Given the description of an element on the screen output the (x, y) to click on. 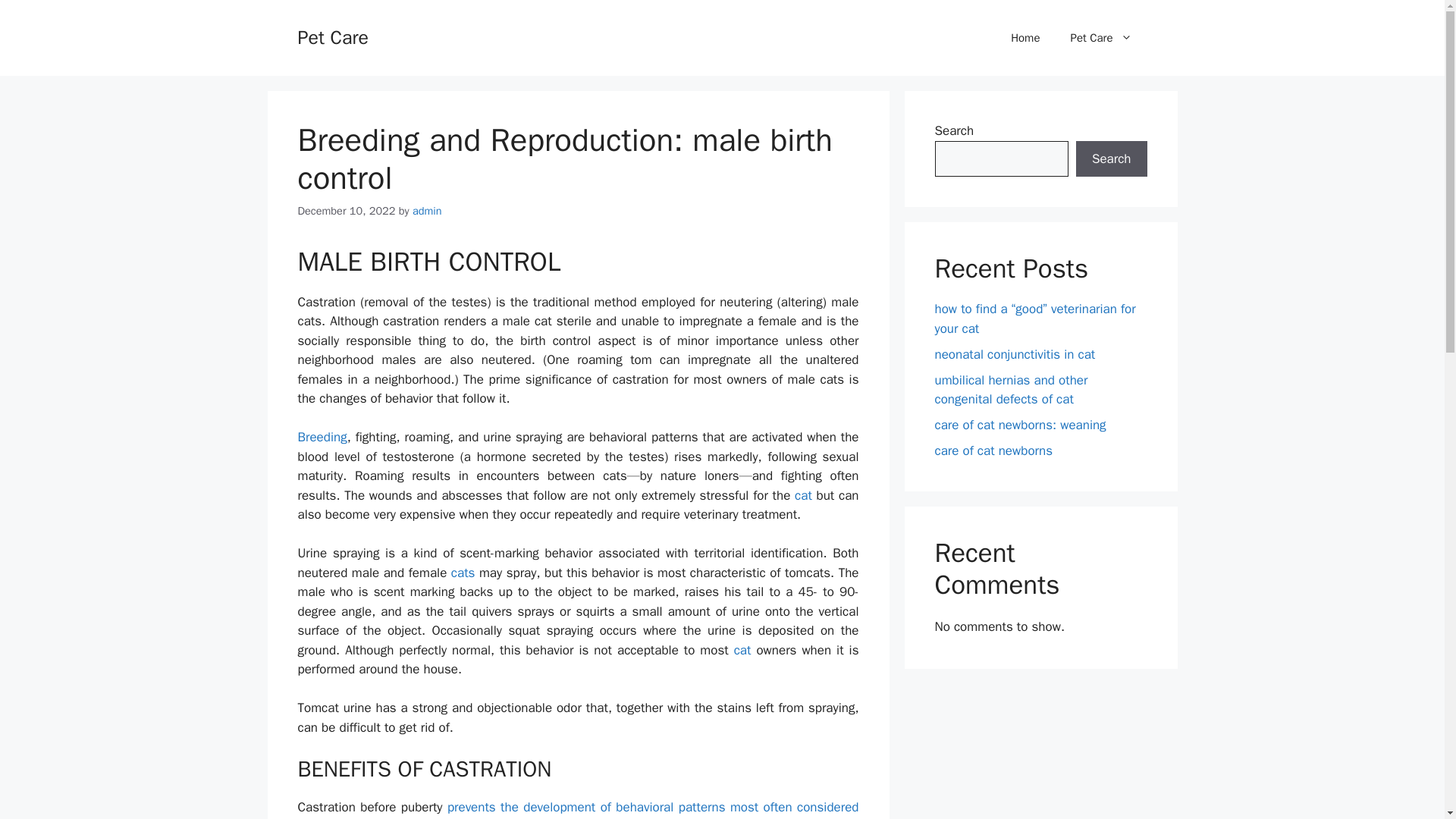
Pet Care (1100, 37)
care of cat newborns: weaning (1019, 424)
admin (427, 210)
cat (803, 495)
Search (1111, 158)
Breeding (321, 437)
Home (1024, 37)
View all posts by admin (427, 210)
cat (742, 650)
care of cat newborns (993, 450)
